Given the description of an element on the screen output the (x, y) to click on. 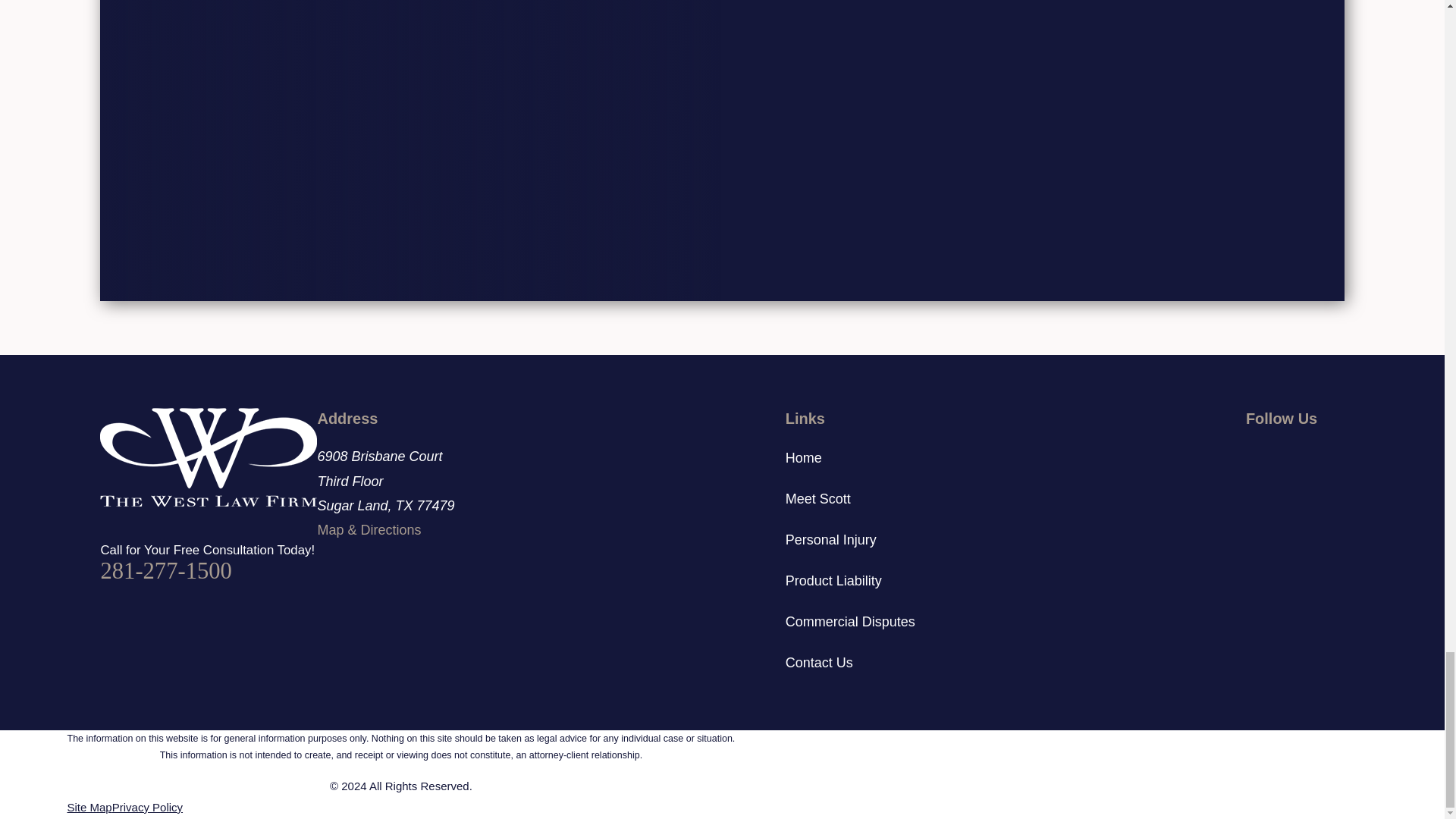
Google Business Profile (1294, 453)
Home (208, 456)
Facebook (1255, 453)
